Given the description of an element on the screen output the (x, y) to click on. 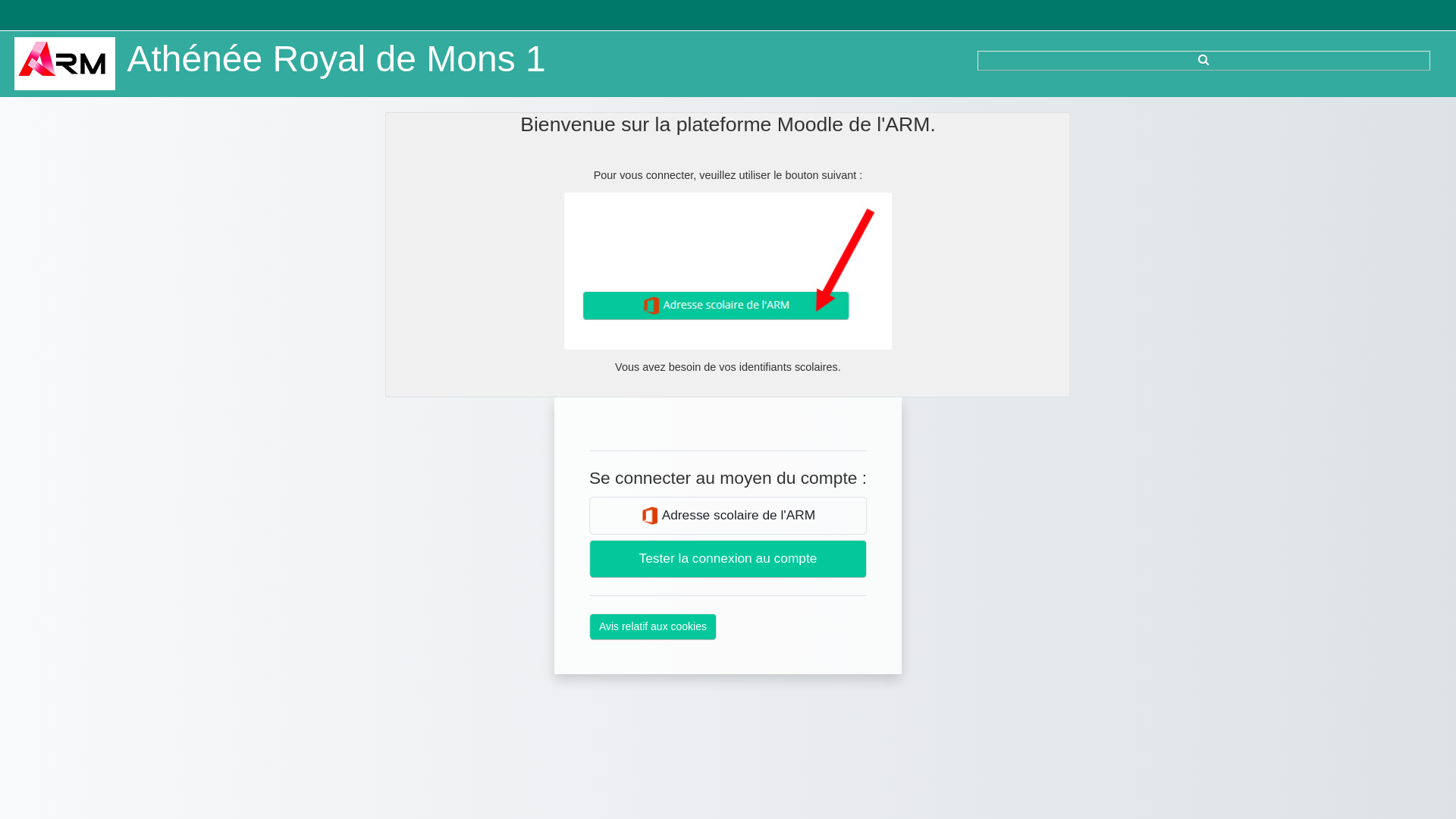
Tester la connexion au compte Element type: text (727, 558)
Adresse scolaire de l'ARM Element type: text (727, 515)
Avis relatif aux cookies Element type: text (652, 626)
